Given the description of an element on the screen output the (x, y) to click on. 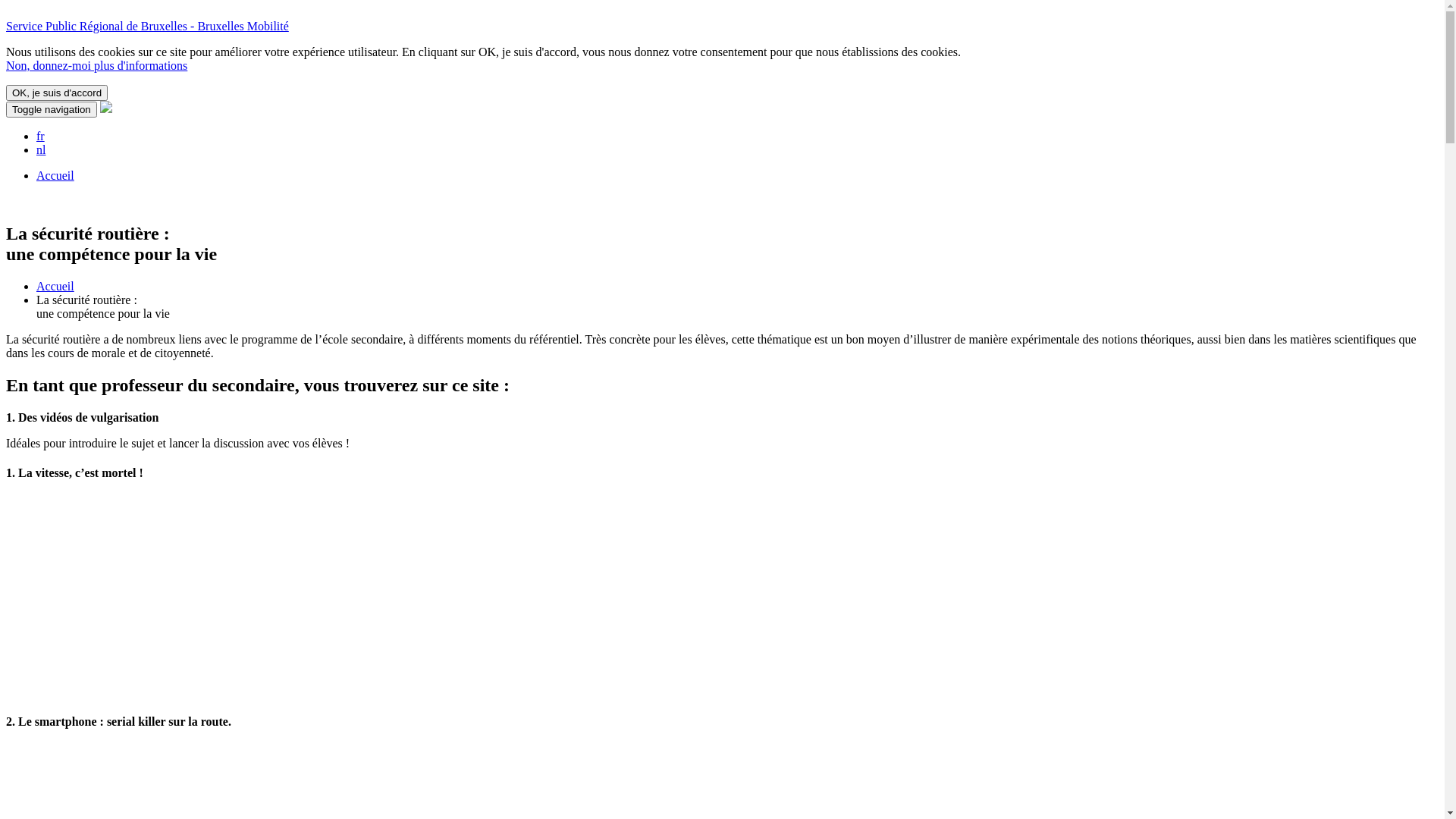
Accueil Element type: text (55, 285)
Toggle navigation Element type: text (51, 109)
nl Element type: text (40, 149)
fr Element type: text (40, 135)
OK, je suis d'accord Element type: text (56, 92)
YouTube video player Element type: hover (184, 595)
Non, donnez-moi plus d'informations Element type: text (96, 65)
Accueil Element type: text (55, 175)
